Given the description of an element on the screen output the (x, y) to click on. 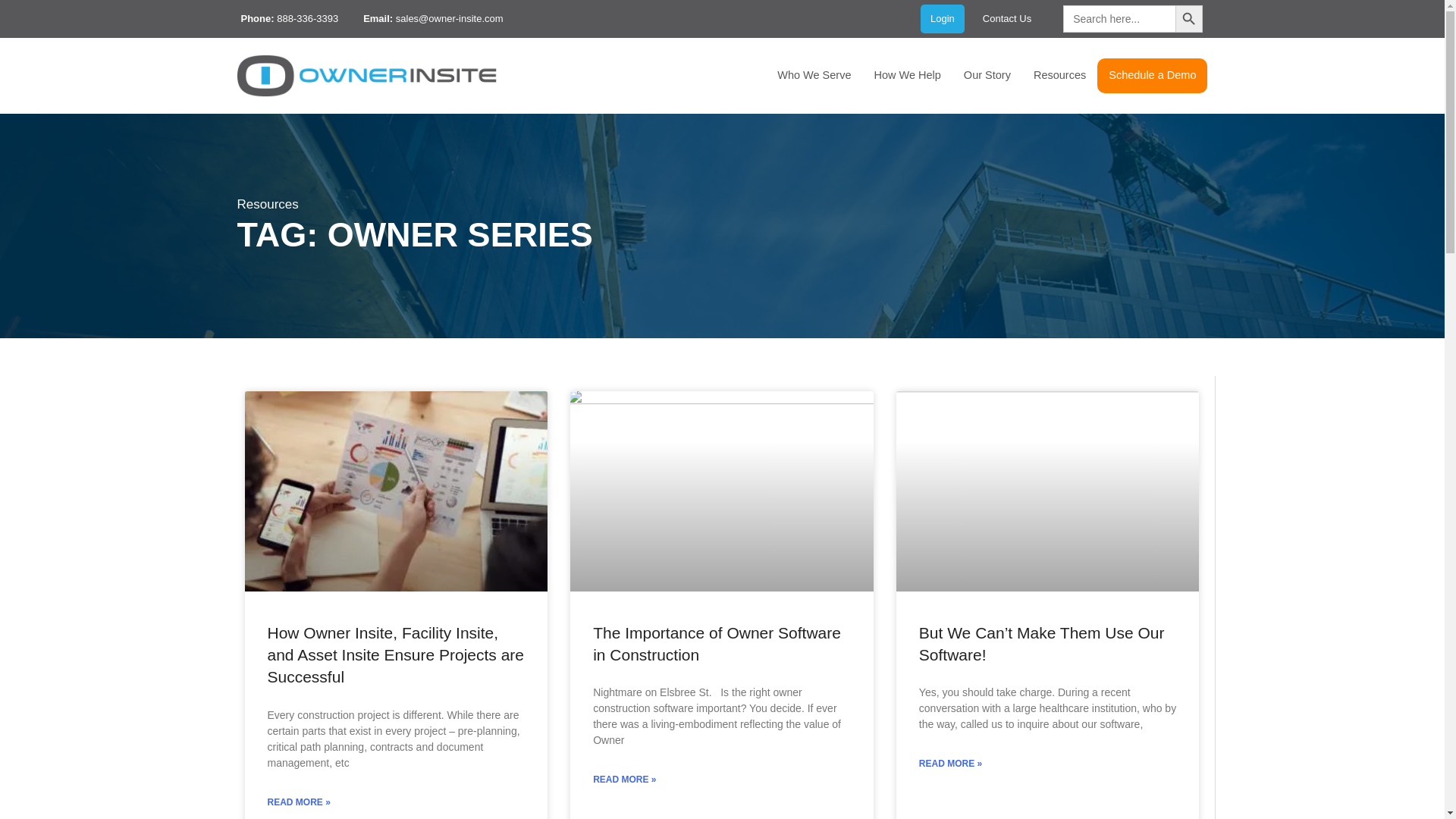
Search Button (1188, 18)
Phone: 888-336-3393 (286, 18)
Who We Serve (813, 75)
How We Help (906, 75)
Login (942, 18)
Contact Us (1006, 18)
